Given the description of an element on the screen output the (x, y) to click on. 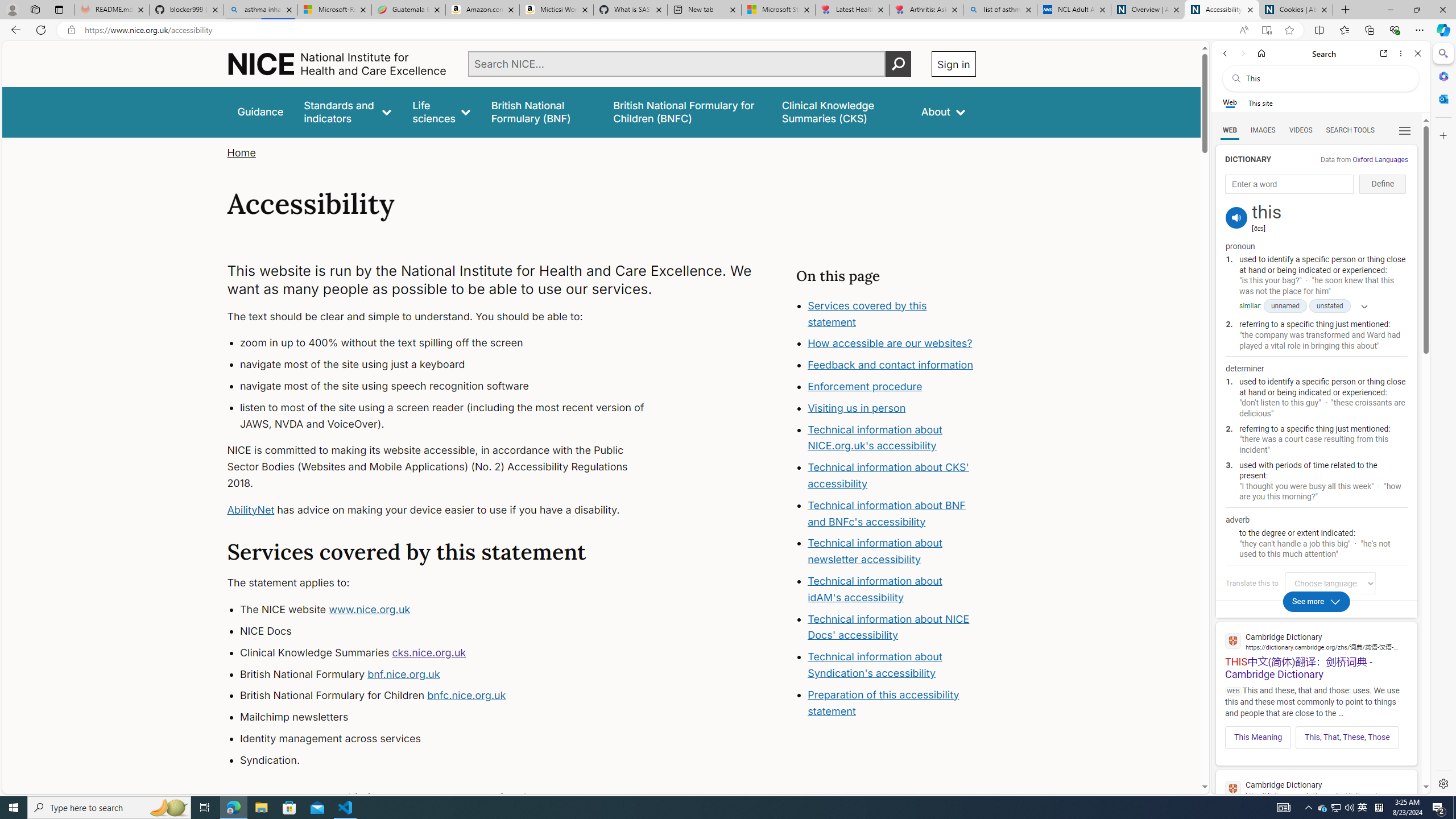
Oxford Languages (1379, 159)
Search Filter, Search Tools (1350, 129)
AbilityNet (251, 509)
www.nice.org.uk (369, 609)
Guidance (260, 111)
